Given the description of an element on the screen output the (x, y) to click on. 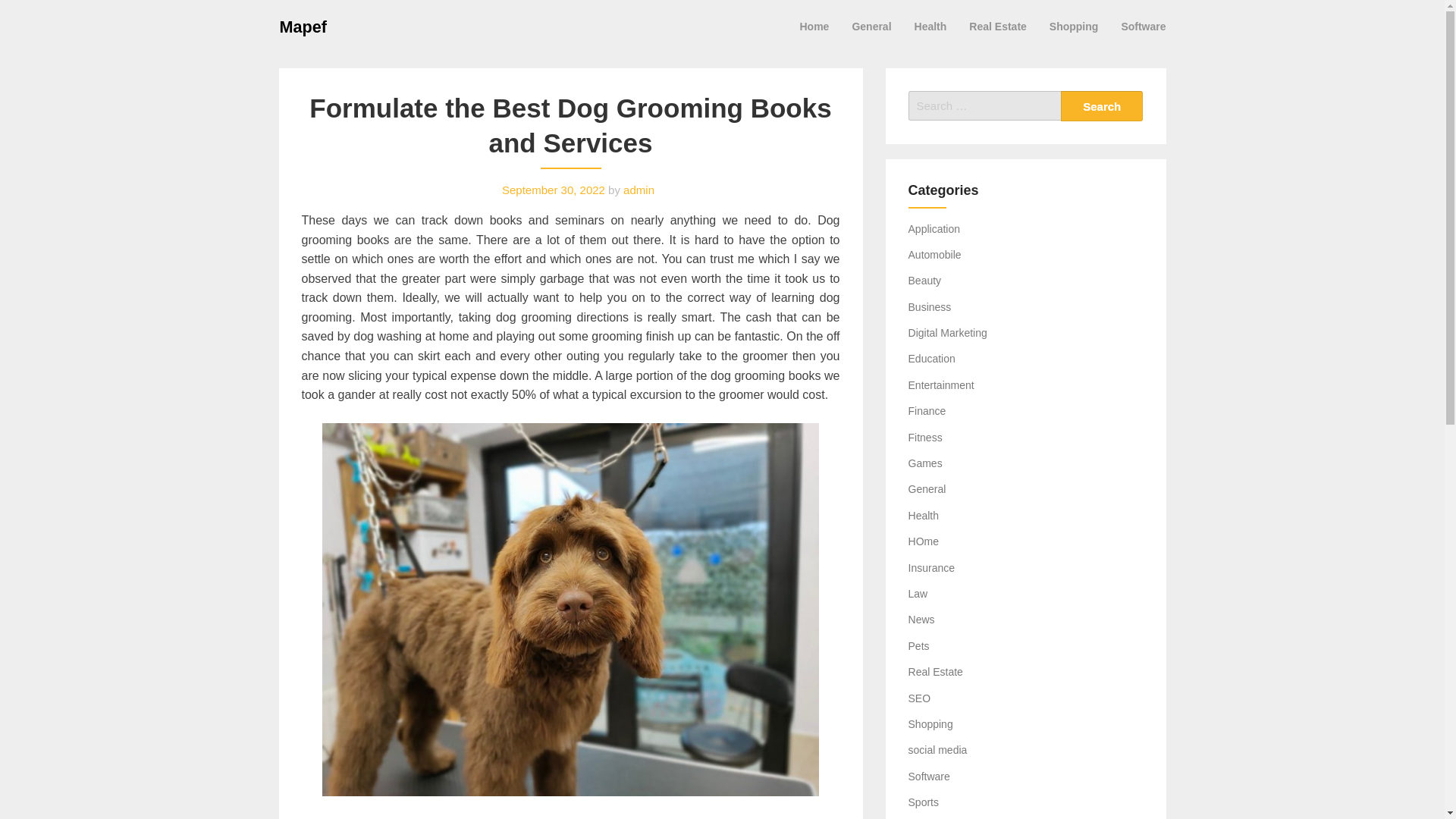
Automobile (934, 254)
Shopping (930, 724)
Sports (923, 802)
Application (934, 228)
Software (1142, 26)
Shopping (1073, 26)
Beauty (925, 280)
HOme (923, 541)
Mapef (302, 26)
Real Estate (935, 671)
Search (1101, 105)
Fitness (925, 437)
News (921, 619)
Health (930, 26)
General (927, 489)
